Given the description of an element on the screen output the (x, y) to click on. 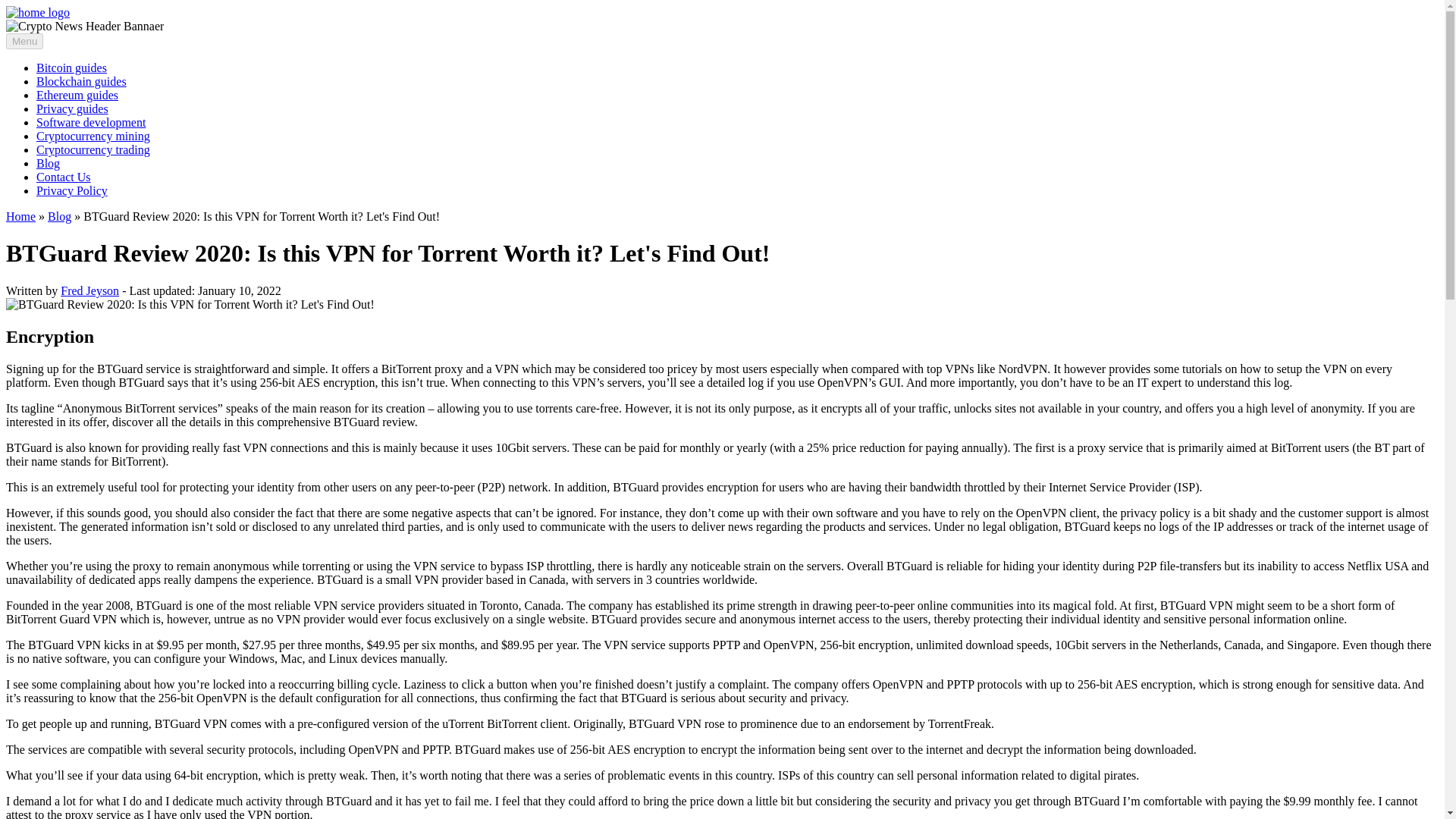
Privacy guides (71, 108)
Blog (47, 163)
Software development (90, 122)
Privacy Policy (71, 190)
Blog (59, 215)
Menu (24, 41)
Ethereum guides (76, 94)
Cryptocurrency mining (92, 135)
Cryptocurrency trading (92, 149)
Fred Jeyson (90, 290)
Contact Us (63, 176)
Blockchain guides (81, 81)
Home (19, 215)
Bitcoin guides (71, 67)
